Given the description of an element on the screen output the (x, y) to click on. 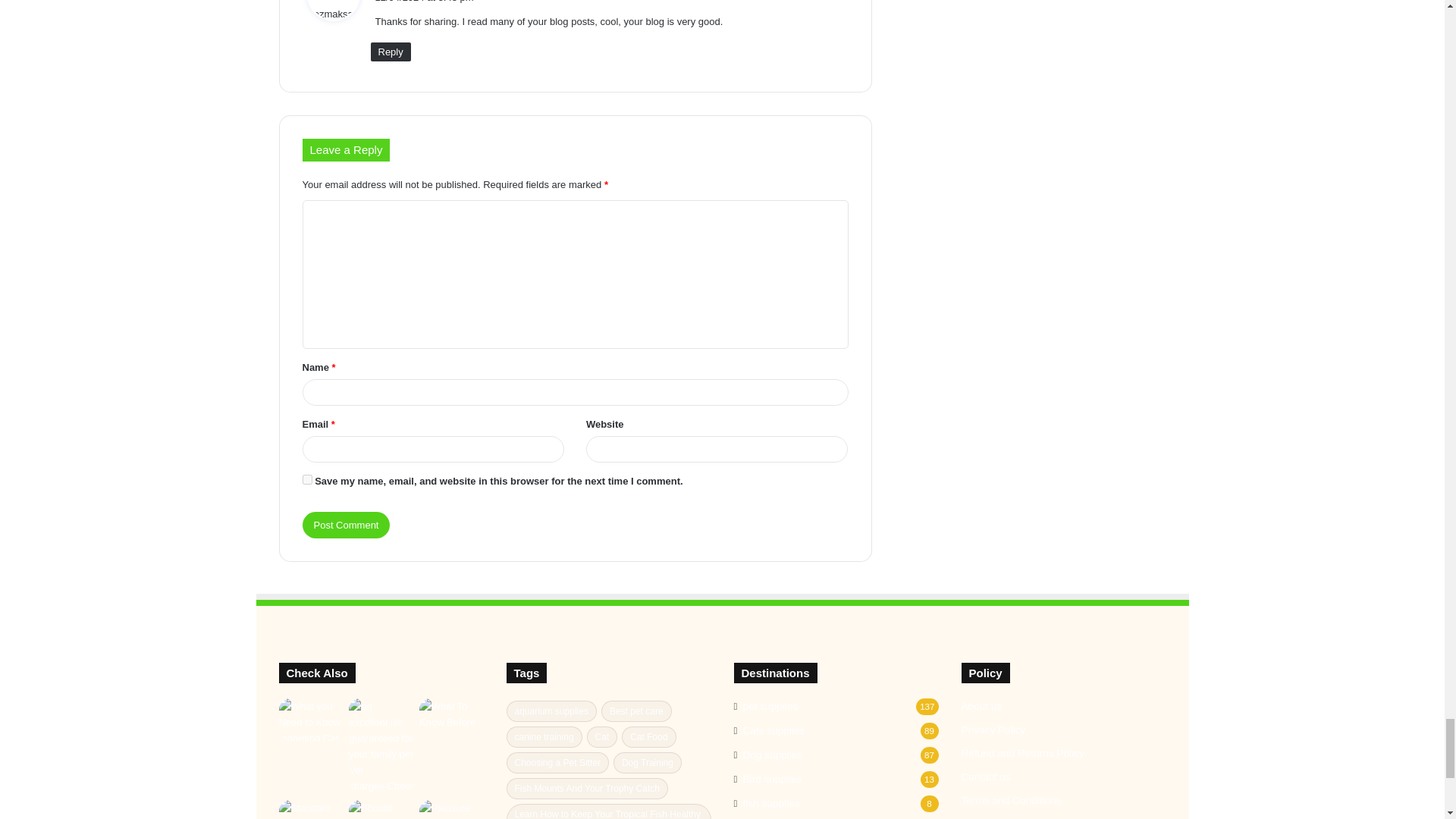
Post Comment (345, 524)
yes (306, 479)
